Given the description of an element on the screen output the (x, y) to click on. 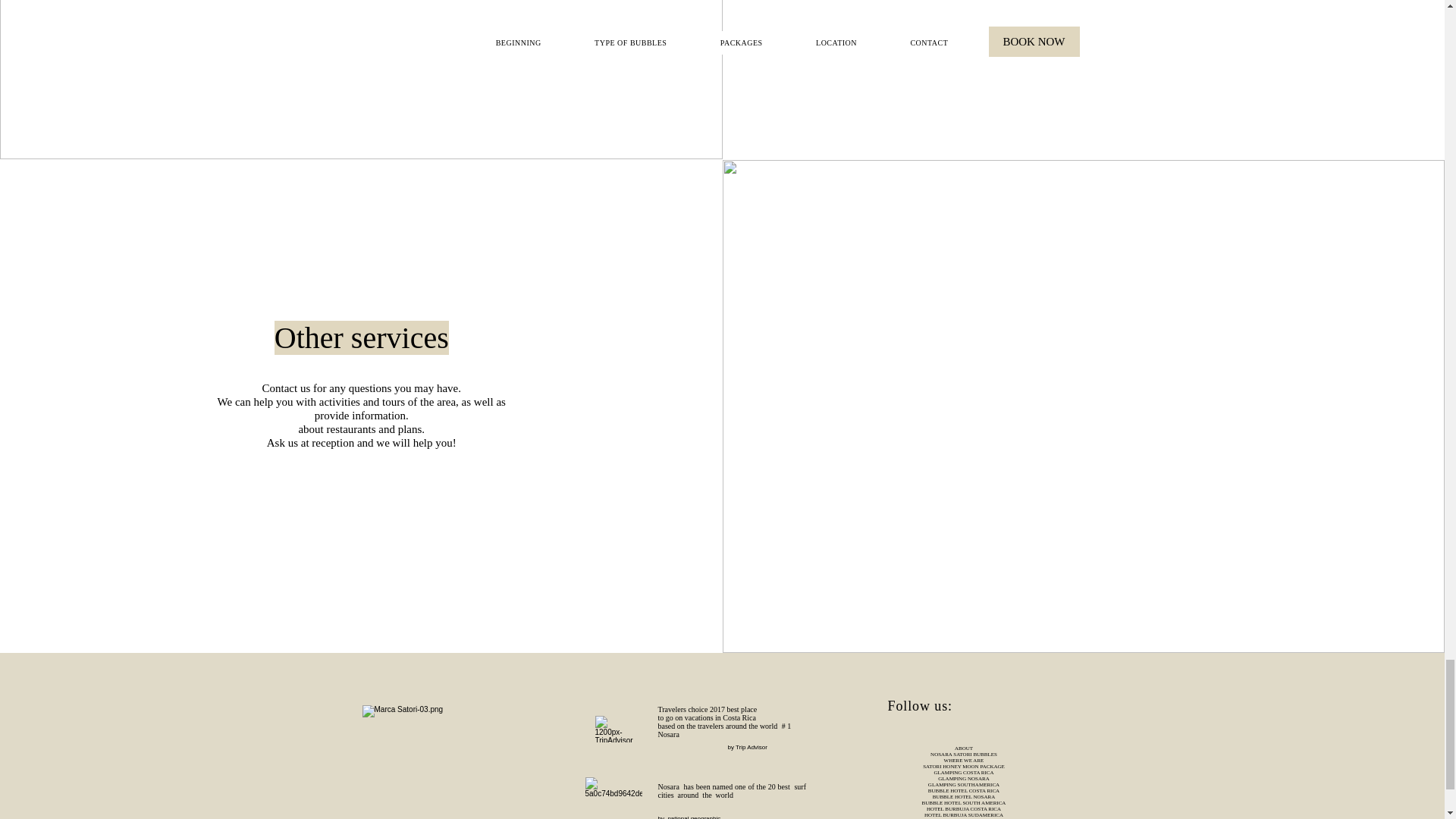
GLAMPING COSTA RICA (962, 772)
Travelers choice 2017 best place (707, 709)
GLAMPING NOSARA (962, 778)
GLAMPING SOUTHAMERICA (963, 784)
HOTEL BURBUJA NOSARA (963, 818)
NOSARA SATORI BUBBLES (963, 754)
BUBBLE HOTEL SOUTH AMERICA (963, 802)
BUBBLE HOTEL NOSARA (964, 796)
ABOUT (963, 748)
HOTEL BURBUJA COSTA RICA (963, 808)
